Given the description of an element on the screen output the (x, y) to click on. 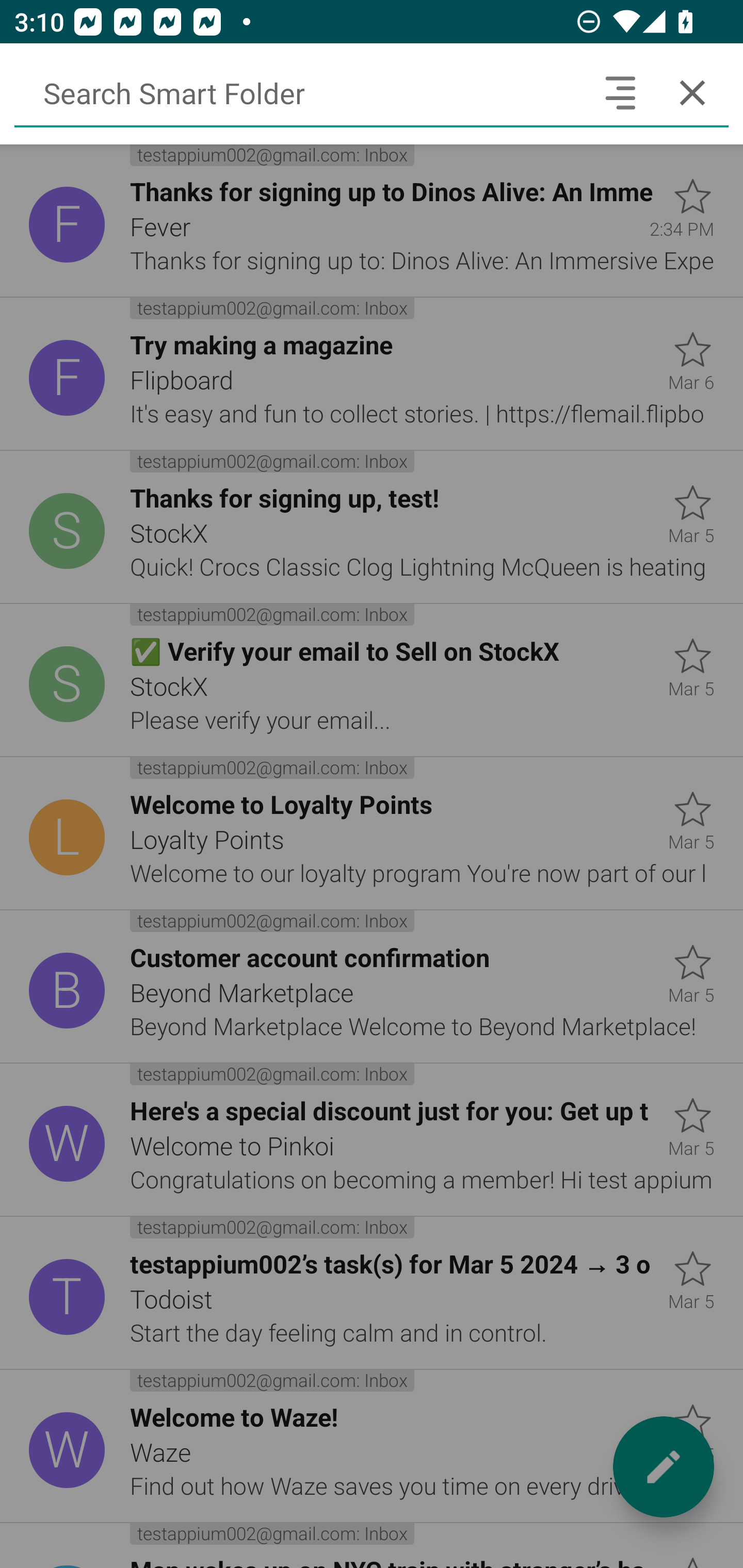
   Search Smart Folder (298, 92)
Search headers and text (619, 92)
Cancel (692, 92)
